Given the description of an element on the screen output the (x, y) to click on. 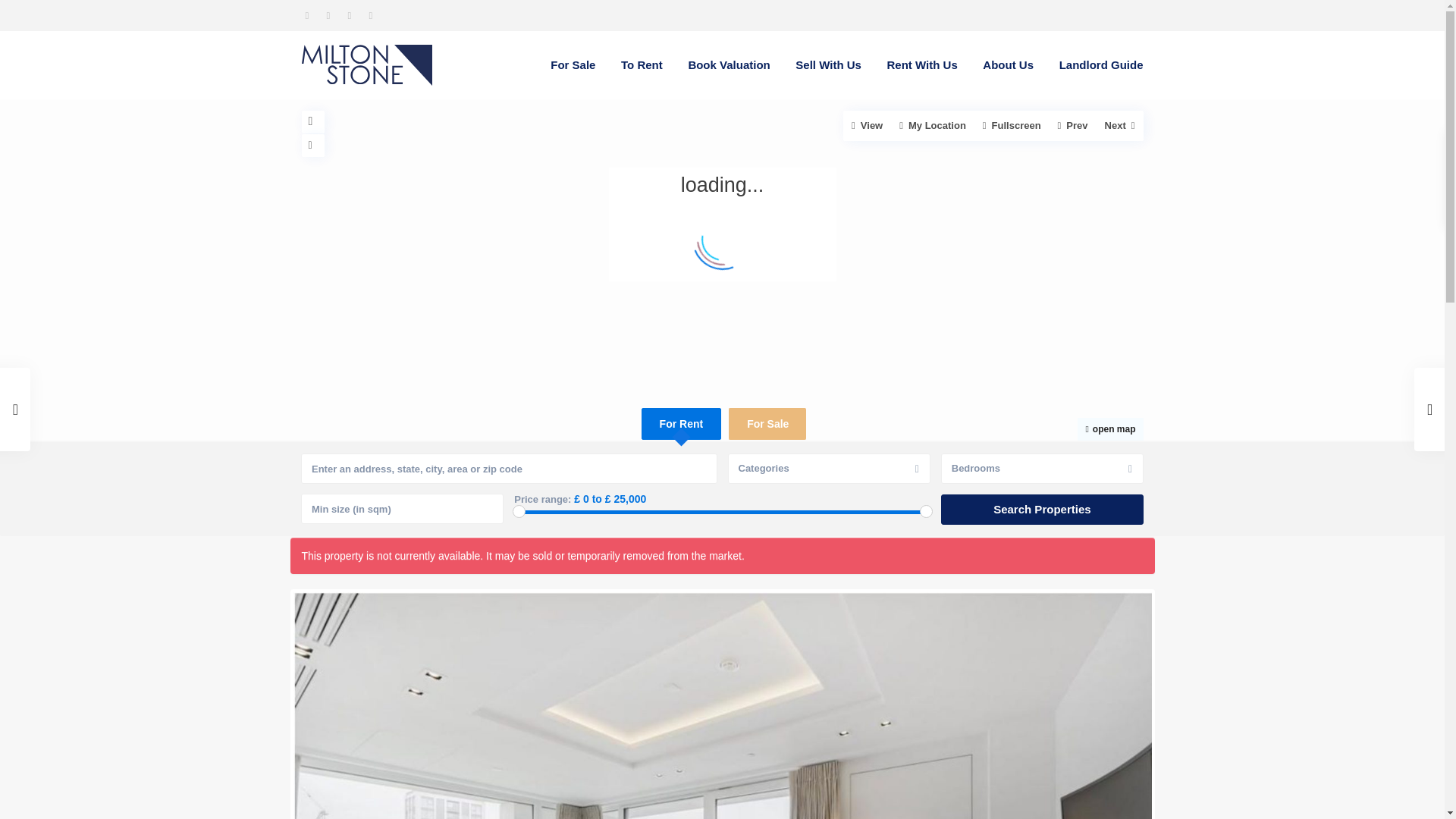
Sell With Us (828, 65)
Search Properties (1041, 509)
Rent With Us (922, 65)
Search Properties (1041, 509)
For Sale (767, 423)
For Rent (681, 423)
For Sale (572, 65)
To Rent (642, 65)
Book Valuation (728, 65)
Landlord Guide (1101, 65)
14795.jpg (146, 705)
About Us (1008, 65)
